Given the description of an element on the screen output the (x, y) to click on. 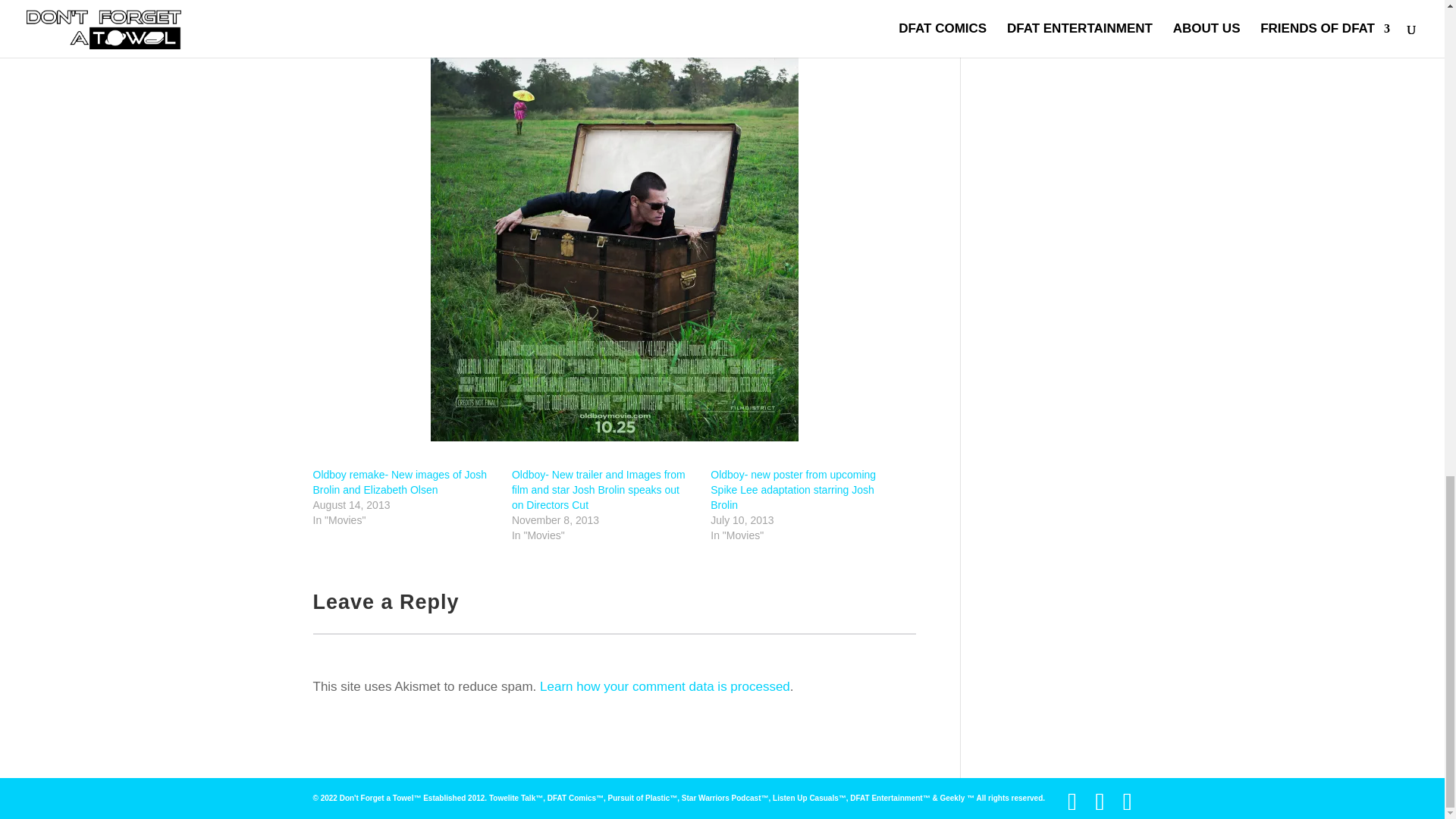
Oldboy remake- New images of Josh Brolin and Elizabeth Olsen (399, 482)
Learn how your comment data is processed (665, 686)
Oldboy remake- New images of Josh Brolin and Elizabeth Olsen (399, 482)
